Given the description of an element on the screen output the (x, y) to click on. 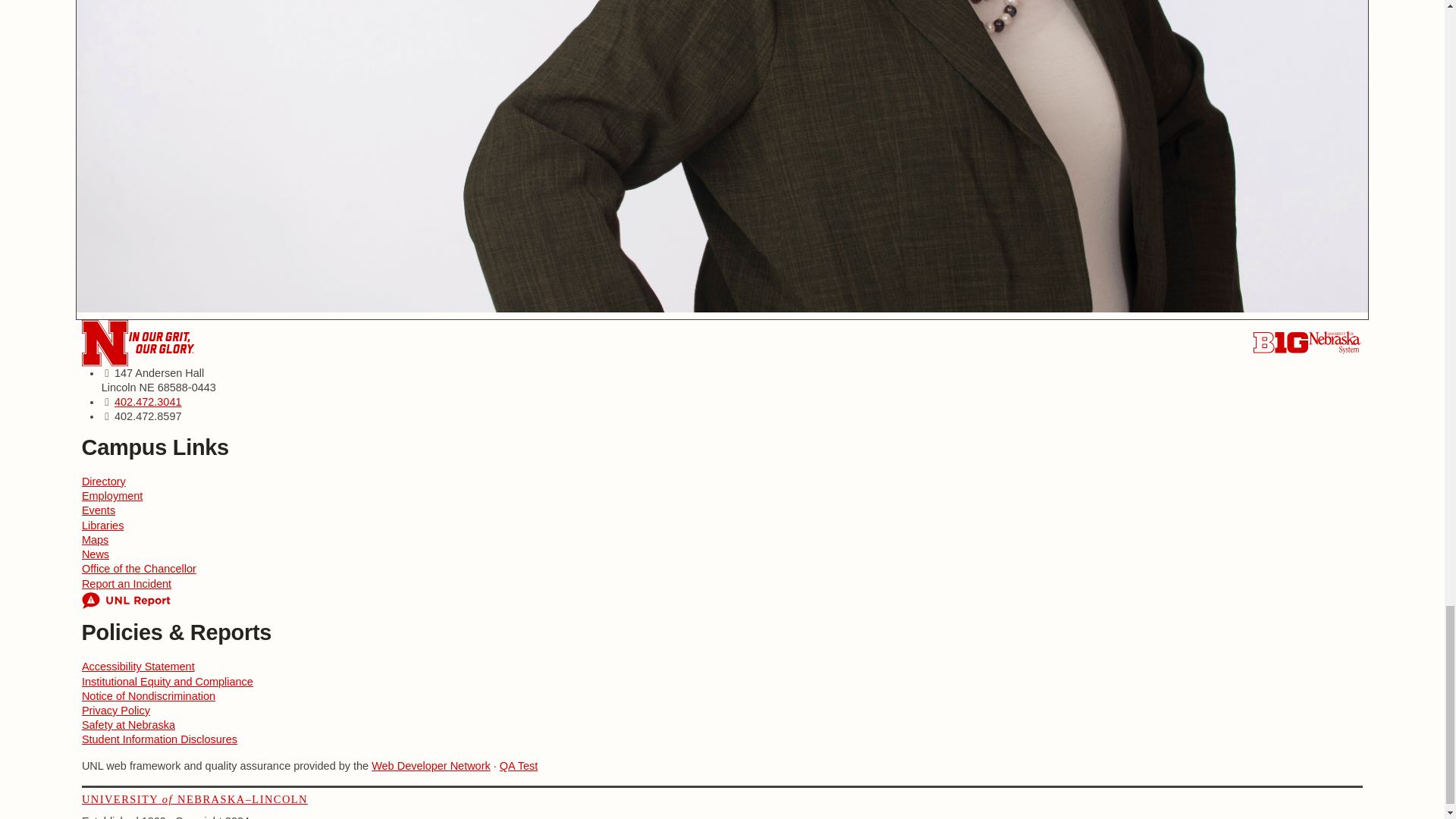
phone (148, 401)
